Given the description of an element on the screen output the (x, y) to click on. 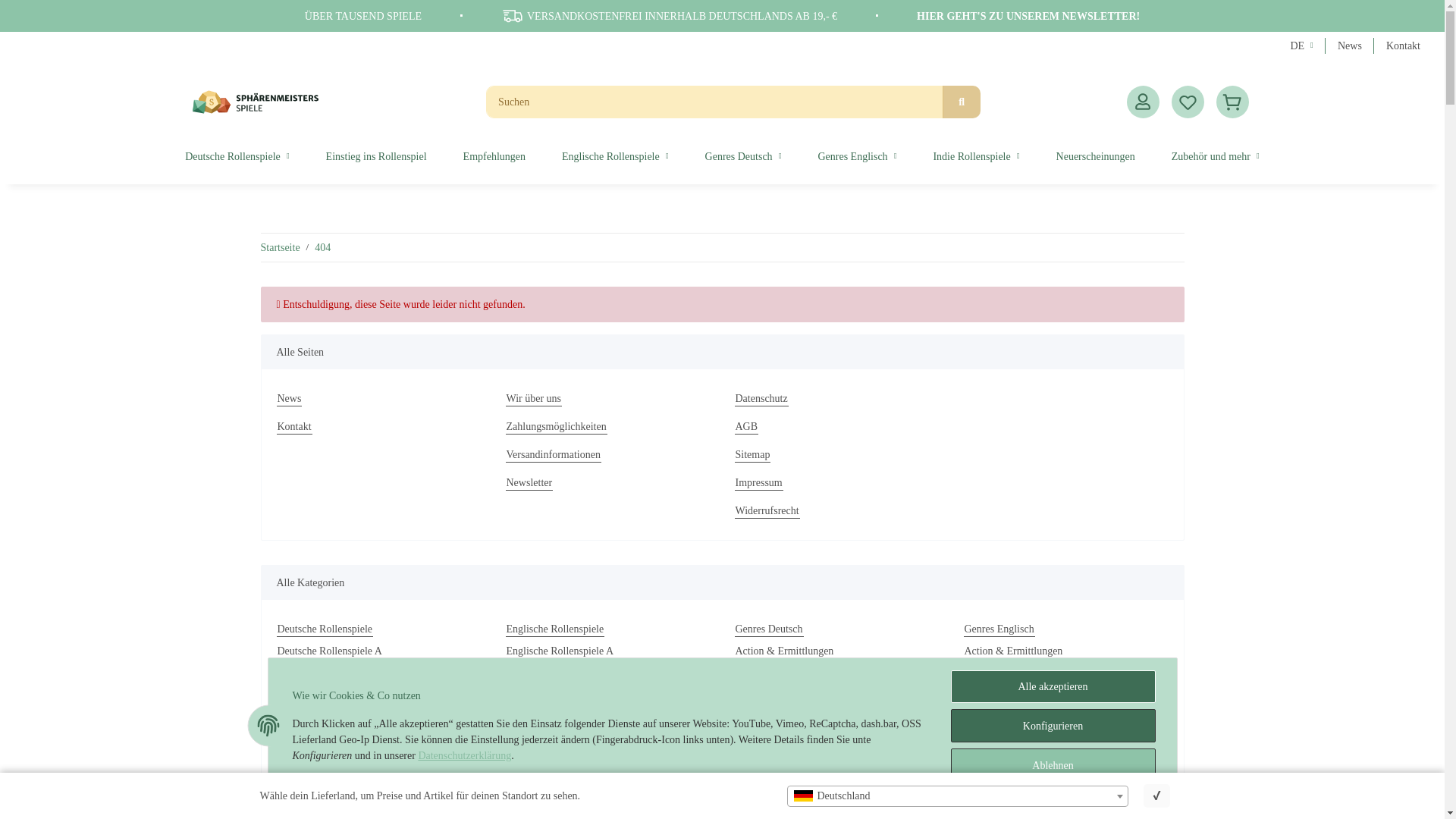
Aktuelle Neuigkeiten (1349, 45)
Neuerscheinungen (1095, 156)
Kontakt (378, 426)
Indie Rollenspiele (975, 156)
Newsletter (607, 482)
Neuerscheinungen (1095, 156)
Versandinformationen (607, 454)
Einstieg ins Rollenspiel (376, 156)
Empfehlungen (494, 156)
AGB (836, 426)
Genres Deutsch (743, 156)
Deutsche Rollenspiele (237, 156)
Sphaerenmeister (255, 101)
HIER GEHT'S ZU UNSEREM NEWSLETTER! (1028, 16)
Impressum (836, 482)
